Given the description of an element on the screen output the (x, y) to click on. 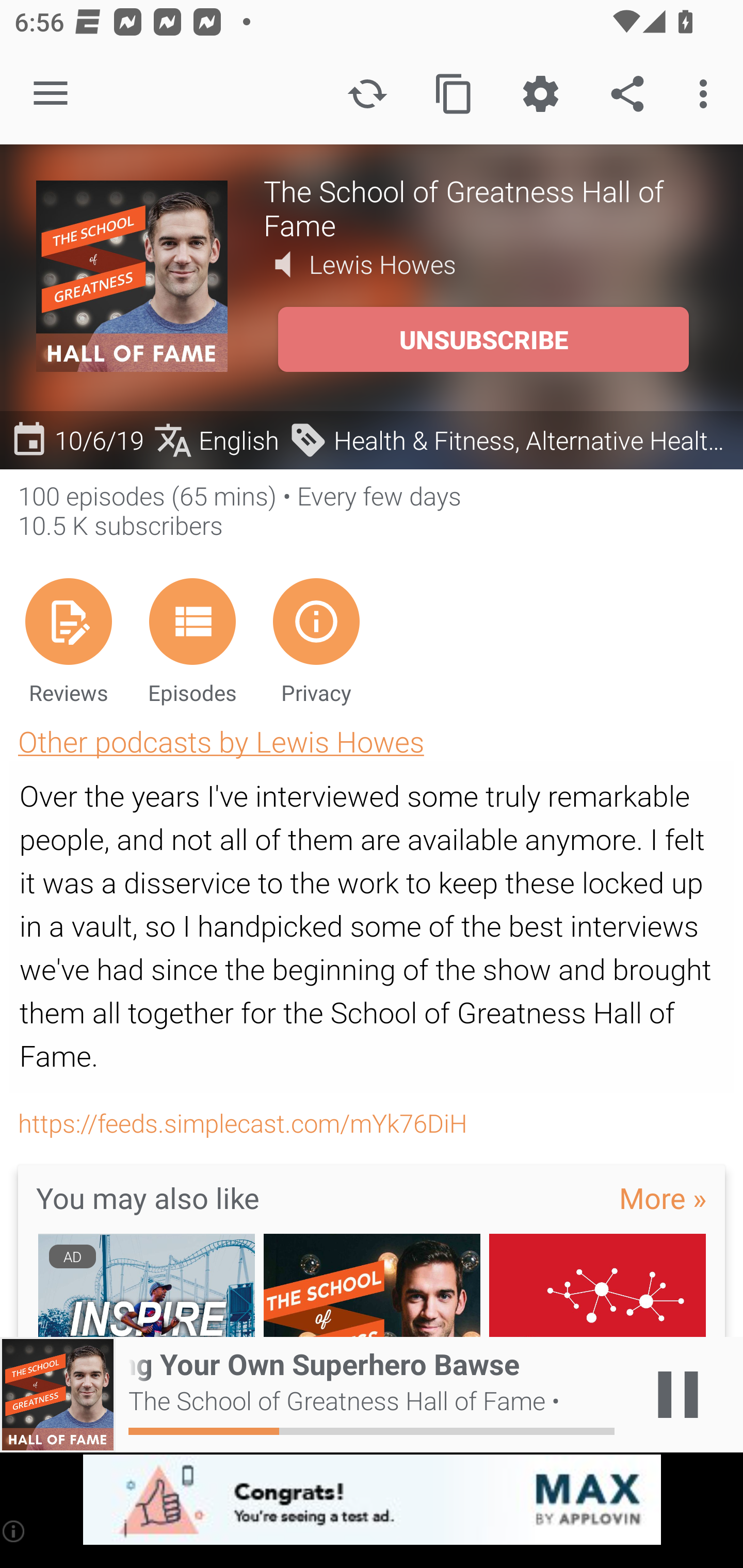
Open navigation sidebar (50, 93)
Refresh podcast description (366, 93)
Copy feed url to clipboard (453, 93)
Custom Settings (540, 93)
Share the podcast (626, 93)
More options (706, 93)
The School of Greatness Hall of Fame (484, 207)
Lewis Howes (382, 263)
UNSUBSCRIBE (482, 339)
Reviews (68, 640)
Episodes (192, 640)
Privacy (315, 640)
Other podcasts by Lewis Howes (220, 740)
More » (662, 1196)
AD (145, 1285)
Play / Pause (677, 1394)
app-monetization (371, 1500)
(i) (14, 1531)
